Given the description of an element on the screen output the (x, y) to click on. 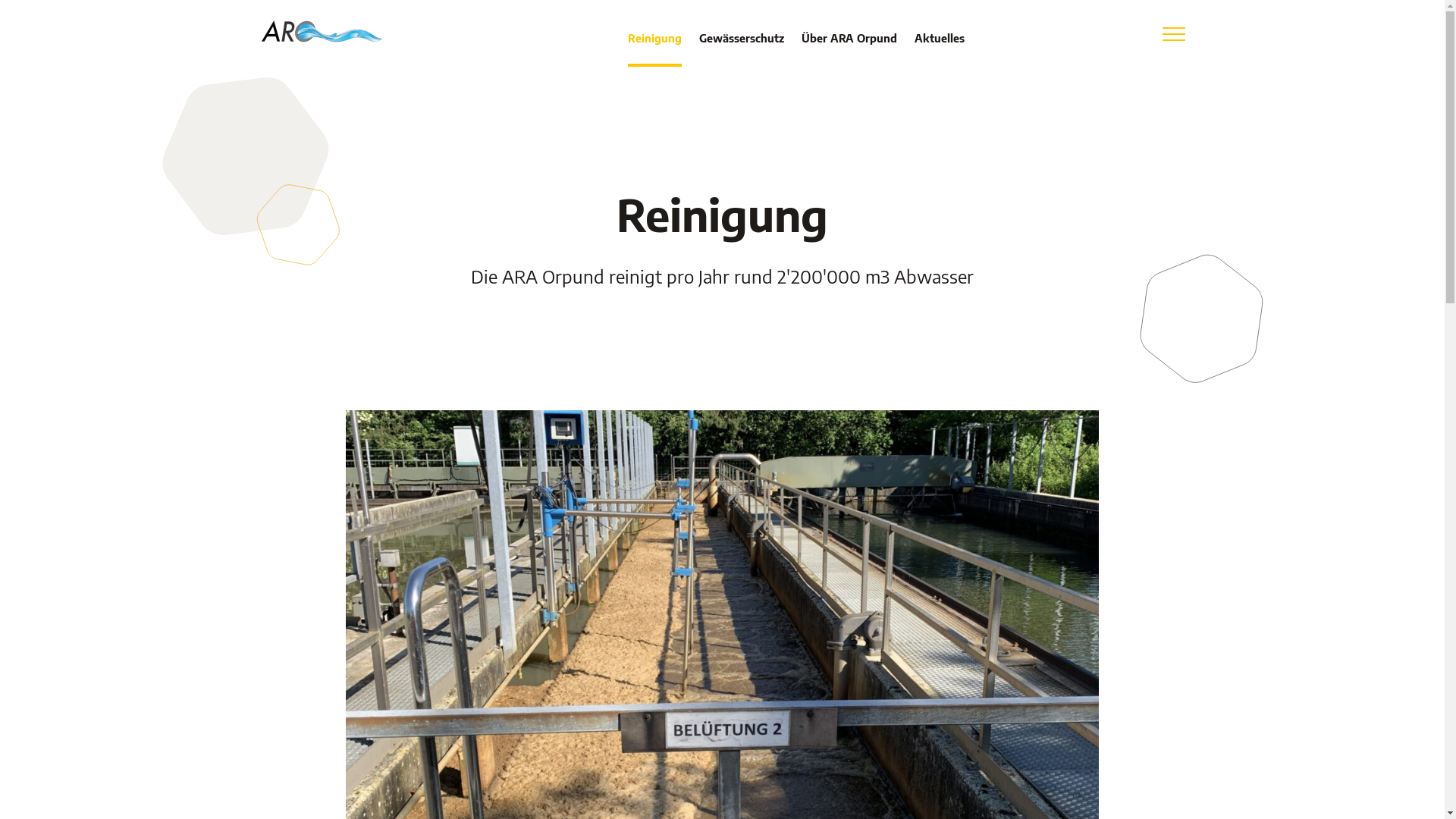
Reinigung Element type: text (654, 48)
Aktuelles Element type: text (939, 48)
Abwasserregion Orpund und Umgebung
Abwasserreinigungsanlage Element type: text (319, 28)
